Given the description of an element on the screen output the (x, y) to click on. 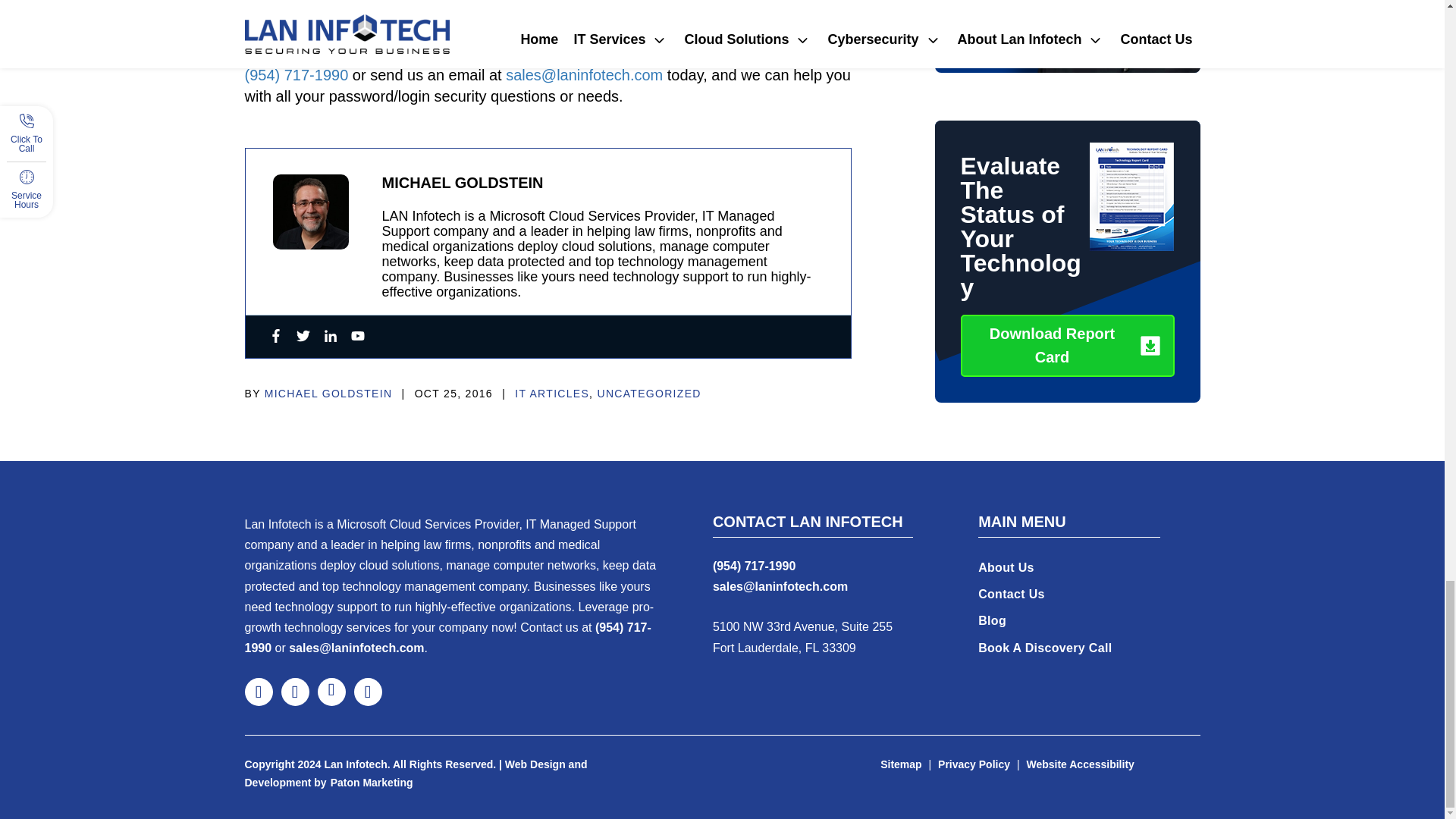
Twitter (301, 336)
Linkedin (329, 336)
Posts by Michael Goldstein (328, 393)
Follow on Youtube (367, 691)
Follow on LinkedIn (331, 691)
Youtube (357, 336)
Facebook (274, 336)
Follow on Facebook (258, 691)
Follow on X (294, 691)
